Given the description of an element on the screen output the (x, y) to click on. 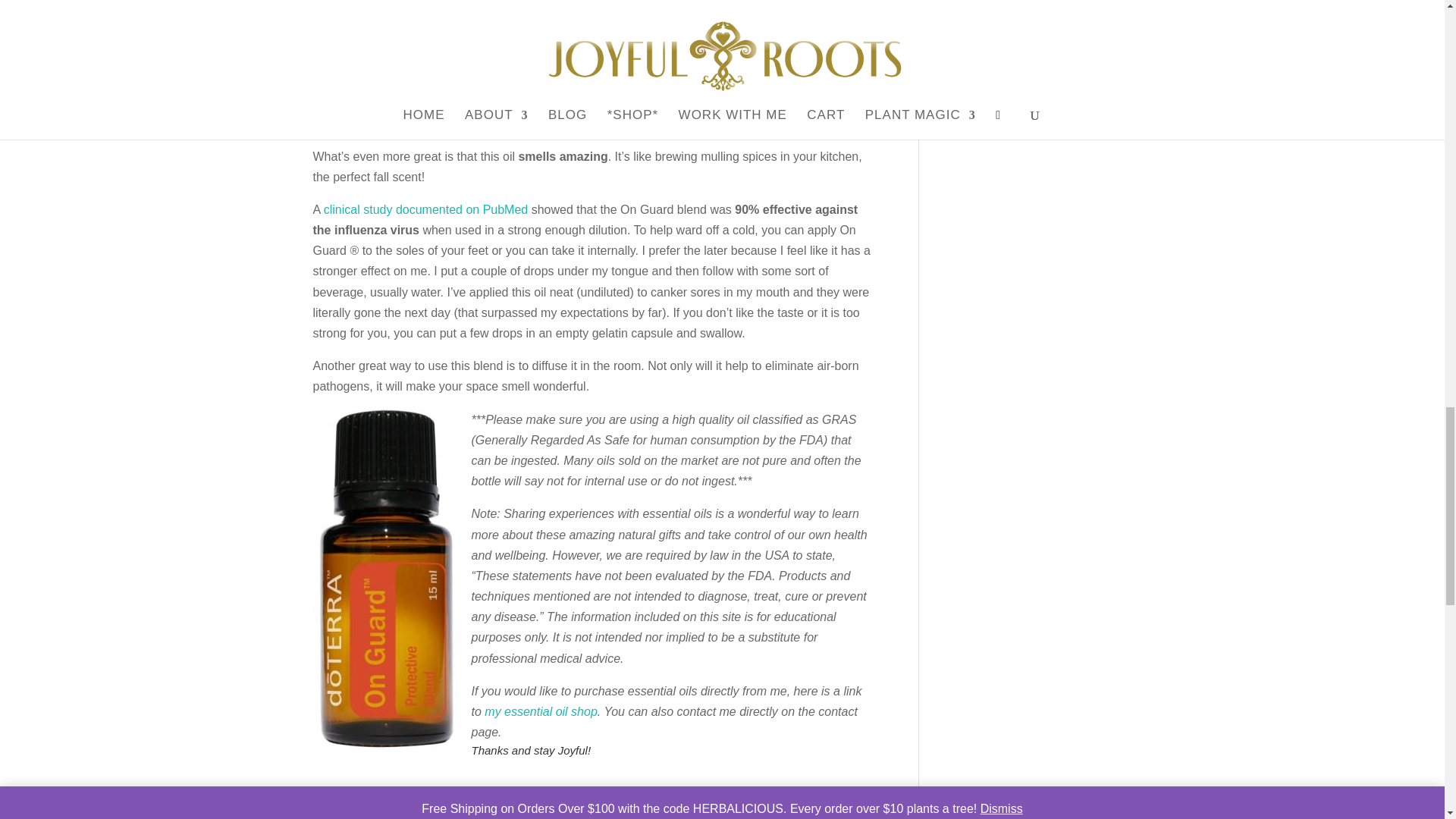
clinical study documented on PubMed (425, 209)
my essential oil shop (540, 711)
DoTERRA Virtual Office Essential Oils (540, 711)
Pub Med On Guard Clinical Study (425, 209)
